Given the description of an element on the screen output the (x, y) to click on. 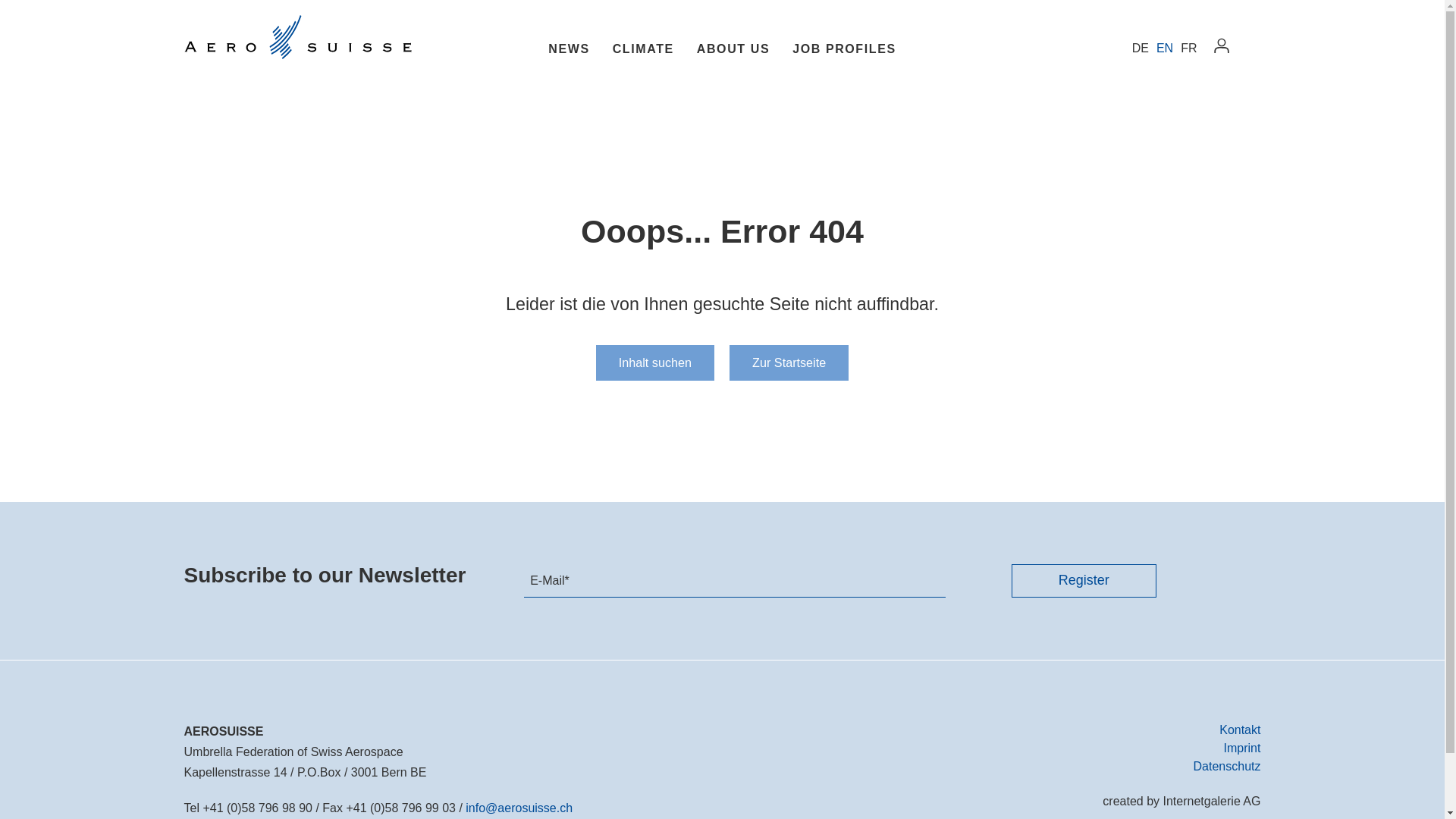
Imprint Element type: text (1242, 747)
Aerosuisse Element type: hover (297, 36)
Register Element type: text (1083, 580)
infoaerosuisse.ch Element type: text (518, 807)
created by Internetgalerie AG Element type: text (1181, 800)
Zur Startseite Element type: text (788, 362)
CLIMATE Element type: text (643, 44)
FR Element type: text (1188, 48)
NEWS Element type: text (568, 44)
JOB PROFILES Element type: text (844, 44)
ABOUT US Element type: text (733, 44)
DE Element type: text (1140, 48)
Datenschutz Element type: text (1227, 765)
Inhalt suchen Element type: text (655, 362)
Kontakt Element type: text (1239, 729)
